Given the description of an element on the screen output the (x, y) to click on. 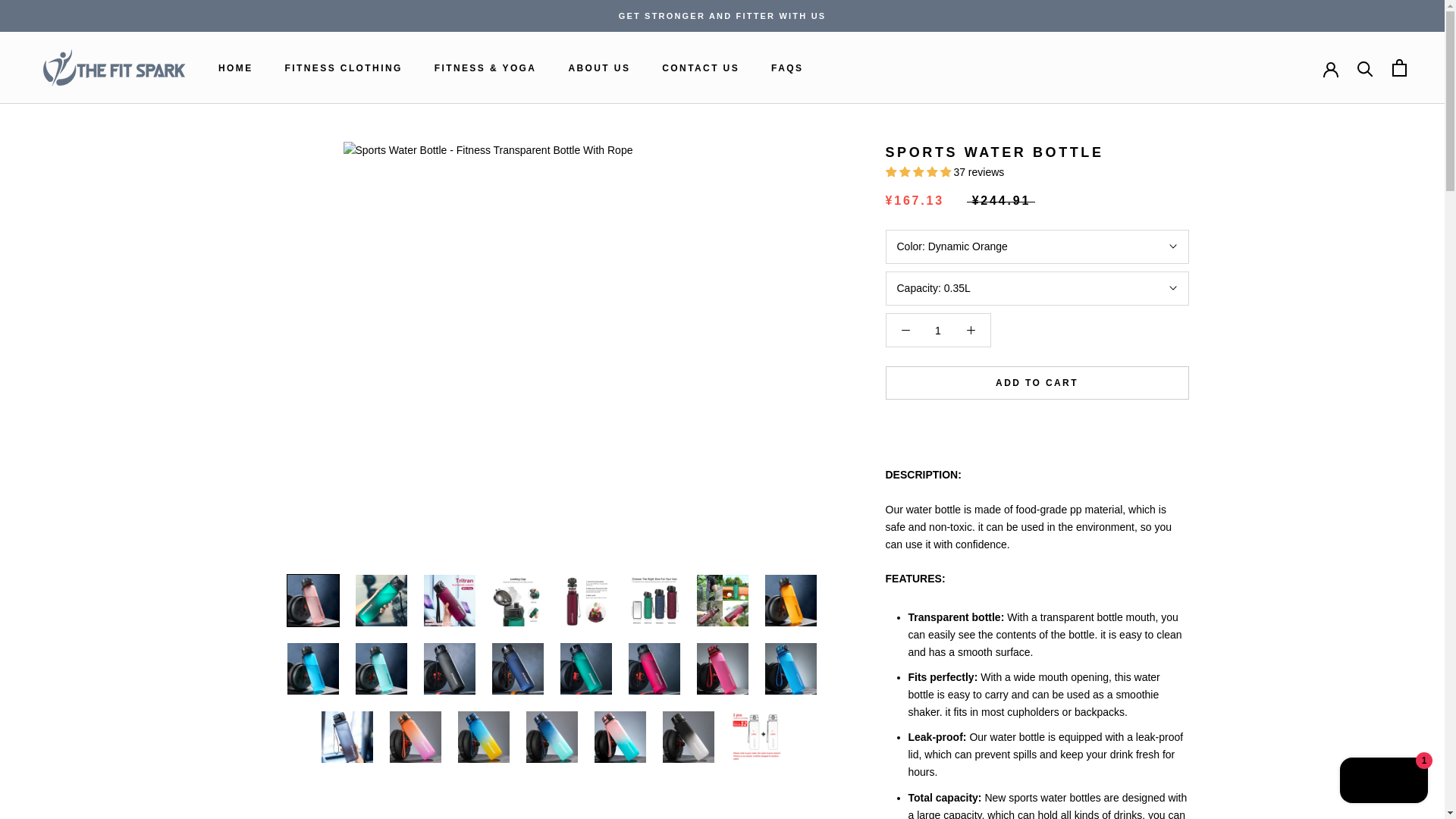
1 (598, 68)
FITNESS CLOTHING (700, 68)
Shopify online store chat (938, 330)
GET STRONGER AND FITTER WITH US (344, 68)
